Given the description of an element on the screen output the (x, y) to click on. 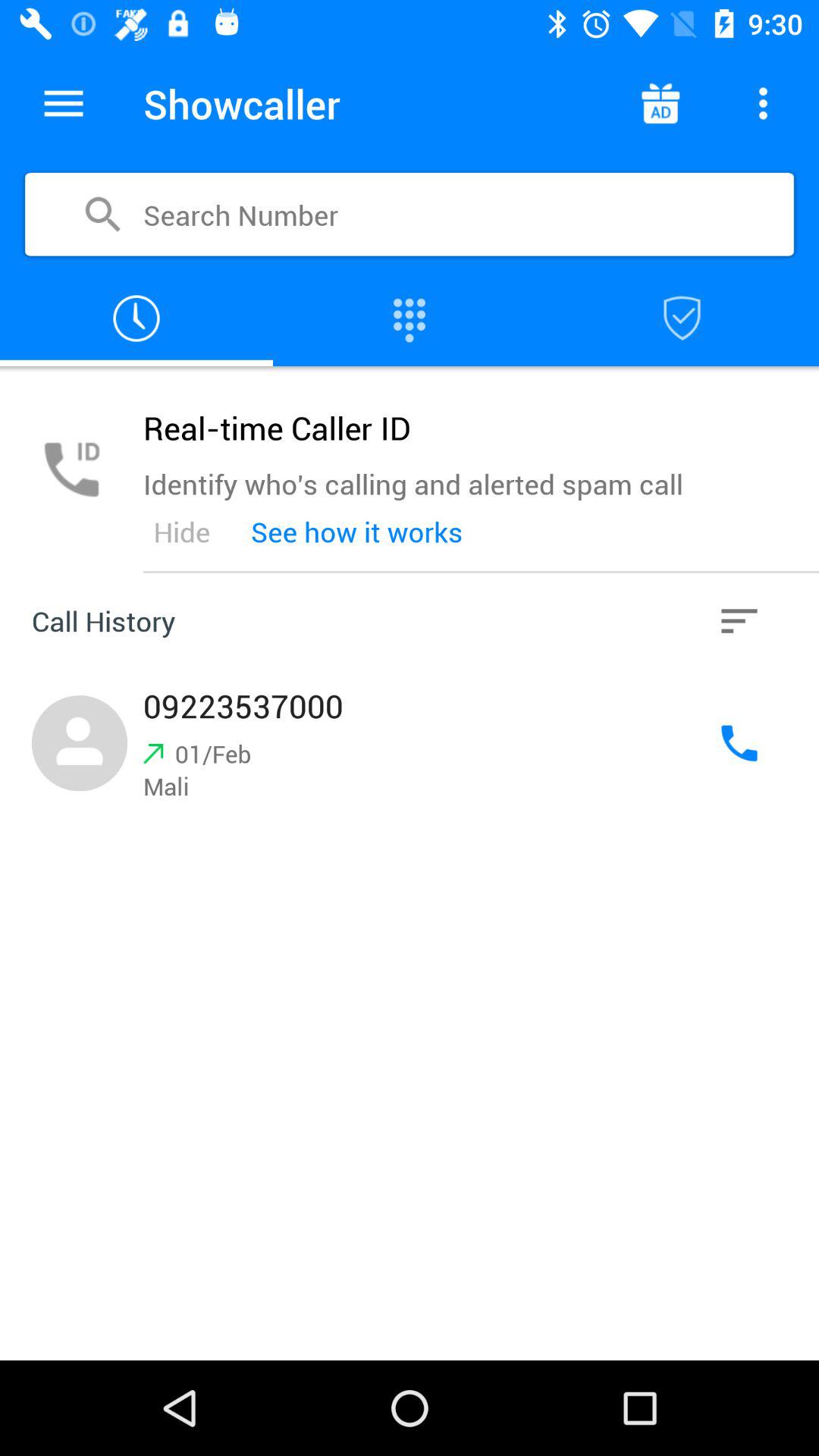
open call history (739, 620)
